Given the description of an element on the screen output the (x, y) to click on. 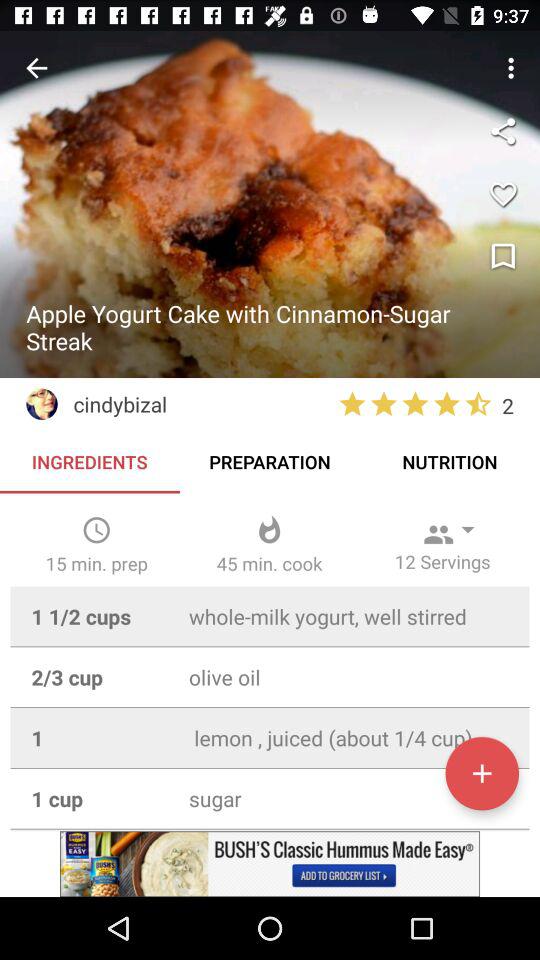
share post (503, 131)
